Given the description of an element on the screen output the (x, y) to click on. 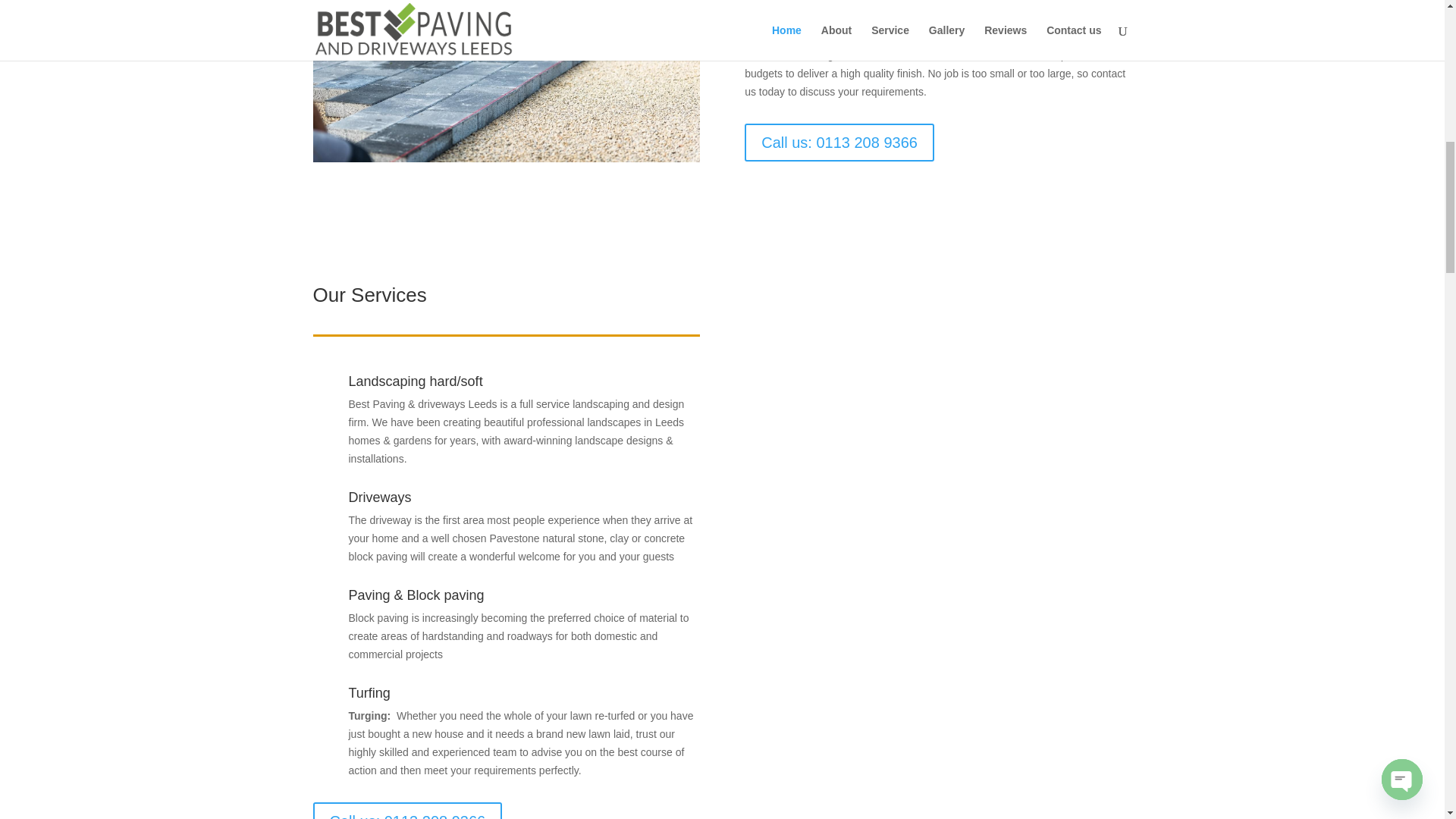
Call us: 0113 208 9366 (407, 810)
Call us: 0113 208 9366 (839, 142)
